Given the description of an element on the screen output the (x, y) to click on. 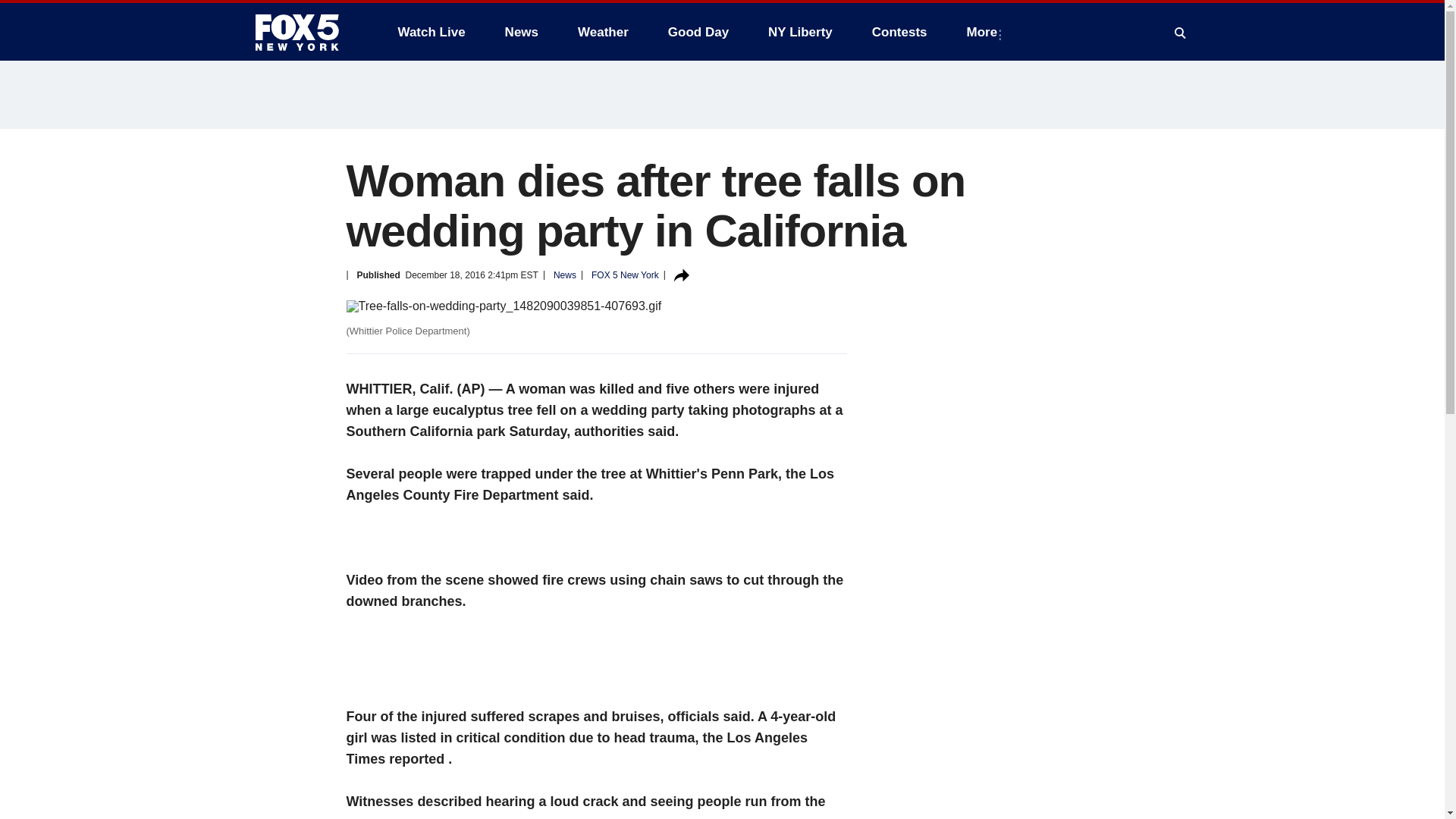
Weather (603, 32)
Contests (899, 32)
Good Day (698, 32)
More (985, 32)
NY Liberty (799, 32)
Watch Live (431, 32)
News (521, 32)
